Given the description of an element on the screen output the (x, y) to click on. 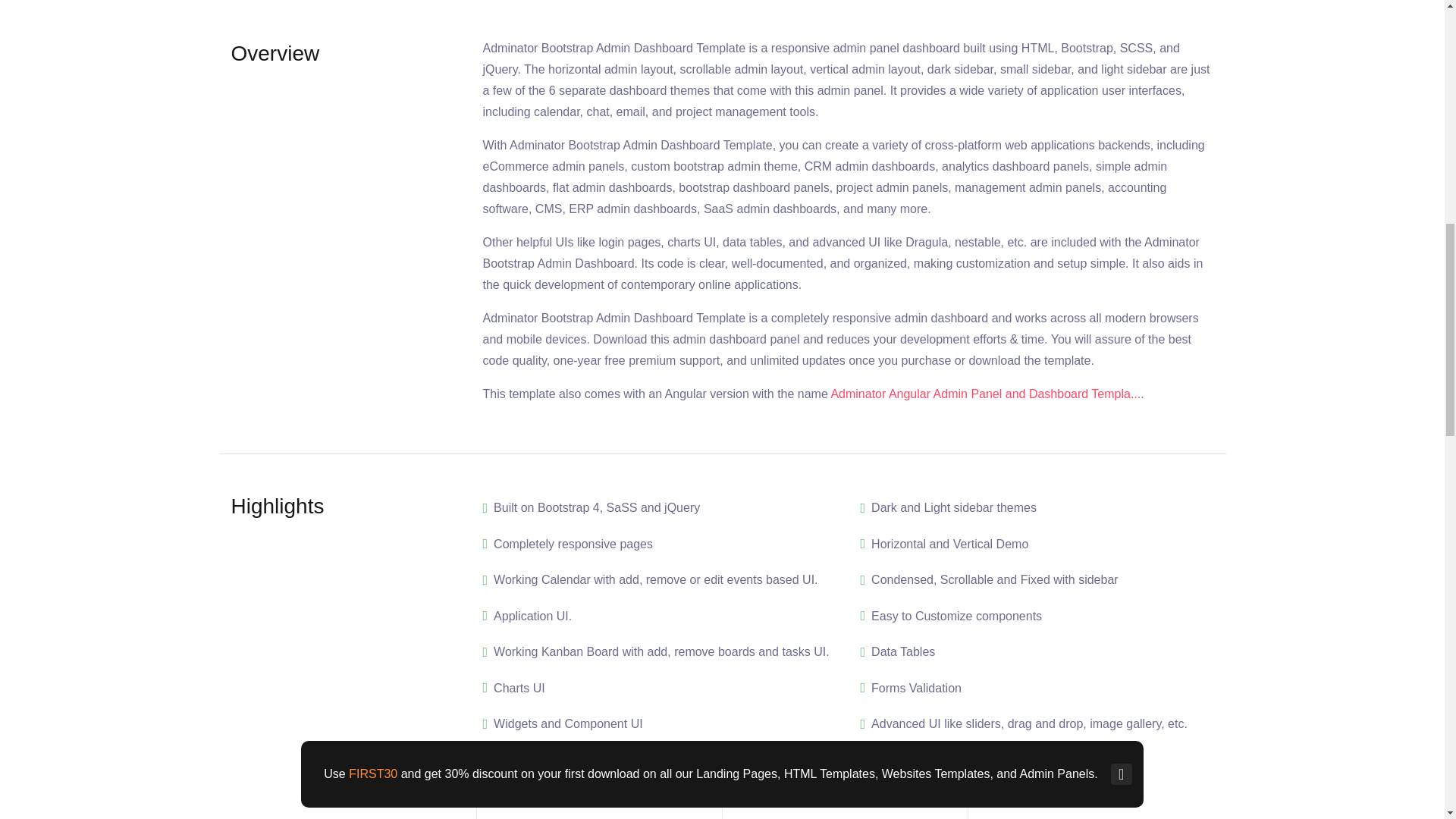
Adminator Angular Admin Panel and Dashboard Templa... (984, 393)
